Given the description of an element on the screen output the (x, y) to click on. 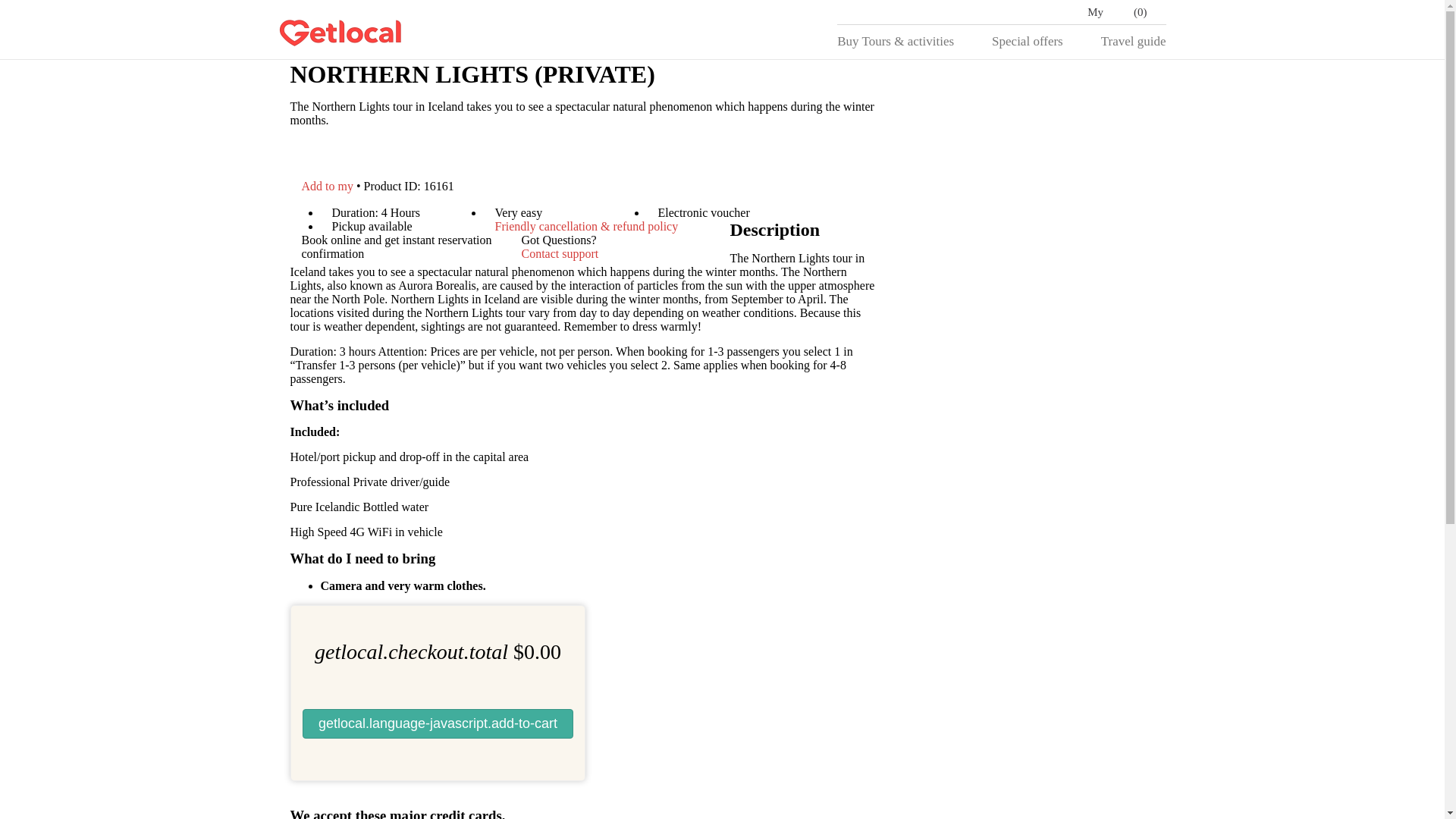
getlocal.language-javascript.add-to-cart (328, 185)
Travel guide (437, 723)
My (1133, 41)
Special offers (1104, 12)
Contact support (1026, 41)
Private Hire Iceland (559, 253)
